Given the description of an element on the screen output the (x, y) to click on. 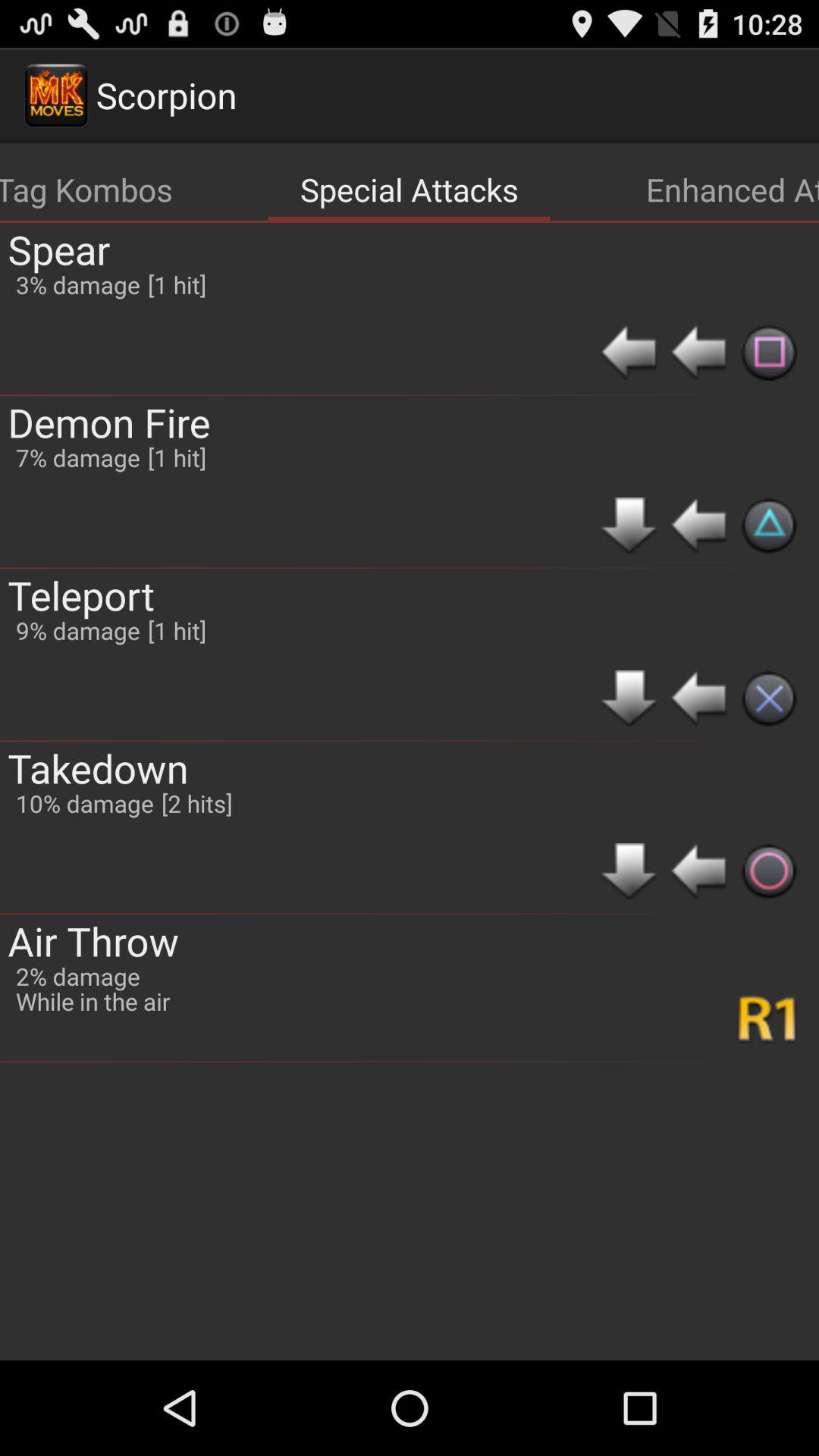
turn off app above the takedown app (80, 594)
